Given the description of an element on the screen output the (x, y) to click on. 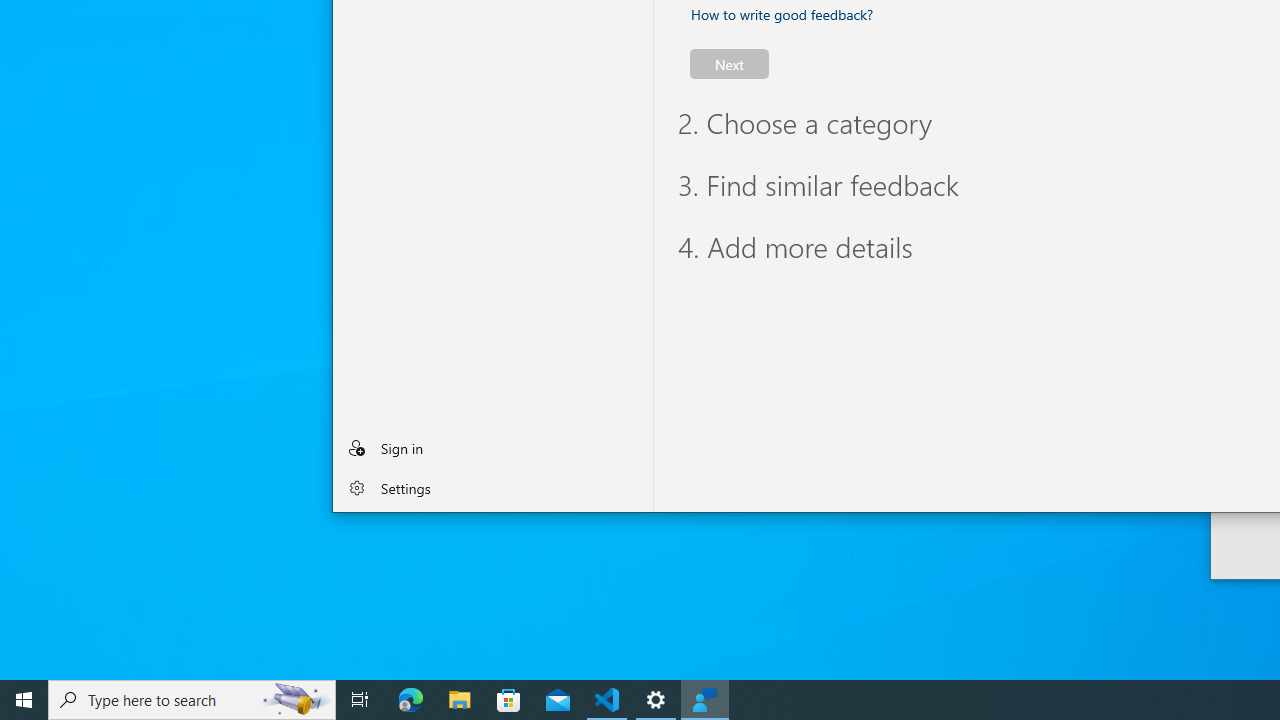
Microsoft Store (509, 699)
Search highlights icon opens search home window (295, 699)
Next (729, 63)
Task View (359, 699)
Settings (492, 488)
File Explorer (460, 699)
Visual Studio Code - 1 running window (607, 699)
Feedback Hub - 1 running window (704, 699)
Type here to search (191, 699)
Start (24, 699)
Sign in (492, 447)
Microsoft Edge (411, 699)
Settings - 1 running window (656, 699)
How to write good feedback? Expand or collapse for tips. (782, 14)
